Given the description of an element on the screen output the (x, y) to click on. 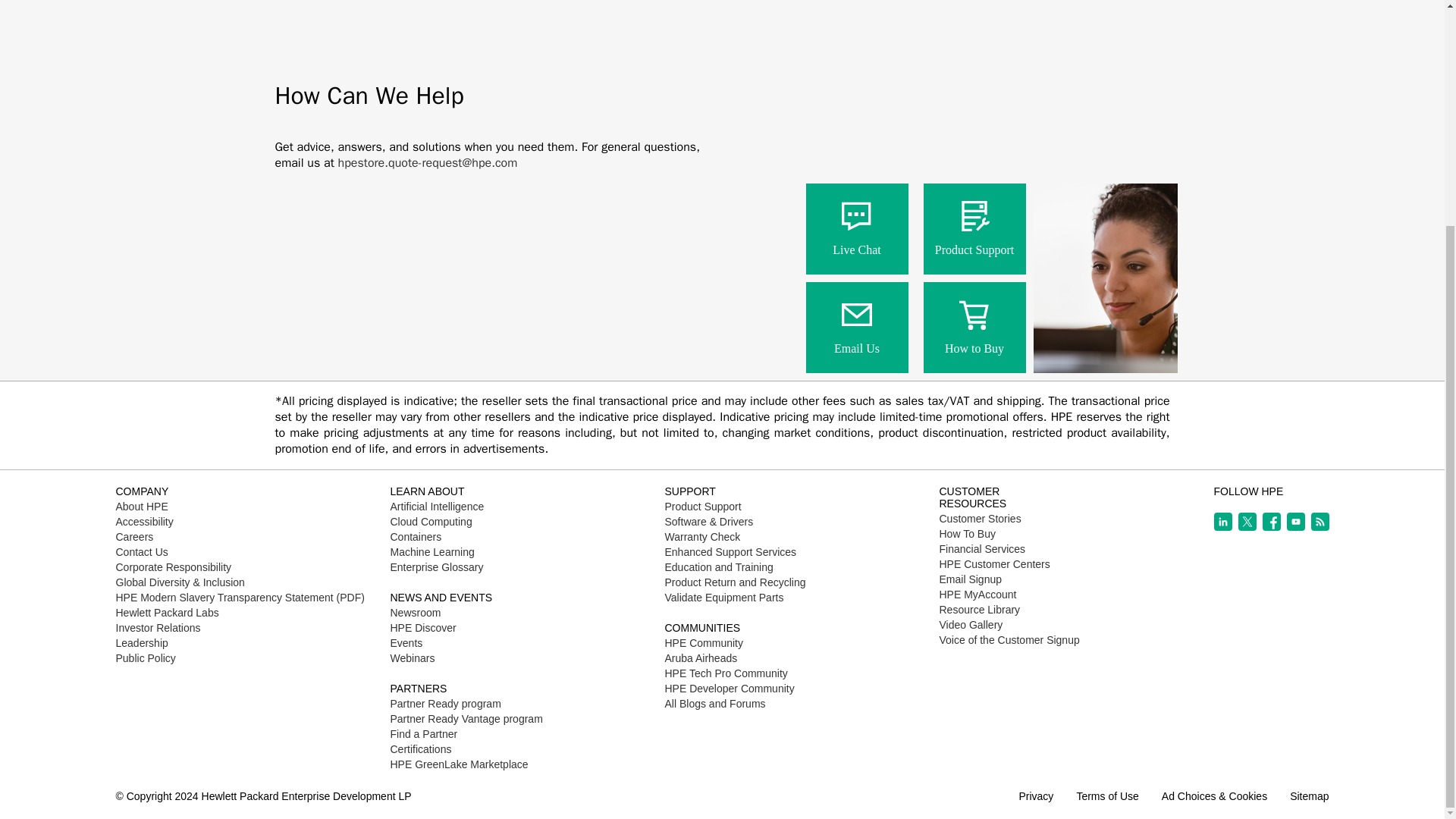
Facebook - new window (1270, 521)
HPE RSS Feed - new window (1318, 521)
YouTube - new window (1294, 521)
X - new window (1246, 521)
LinkedIn - new window (1221, 521)
